Given the description of an element on the screen output the (x, y) to click on. 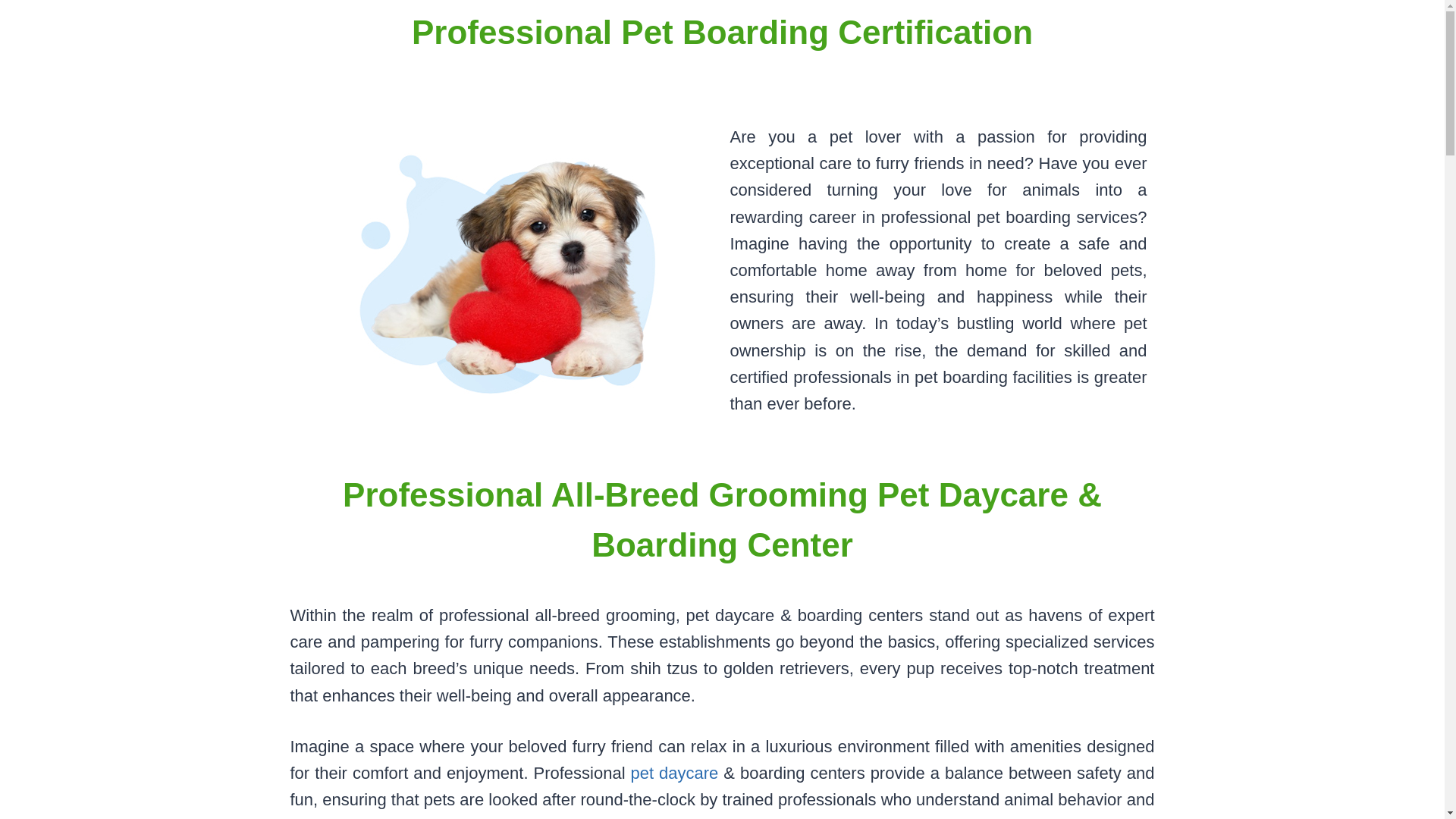
pet daycare (674, 772)
